Given the description of an element on the screen output the (x, y) to click on. 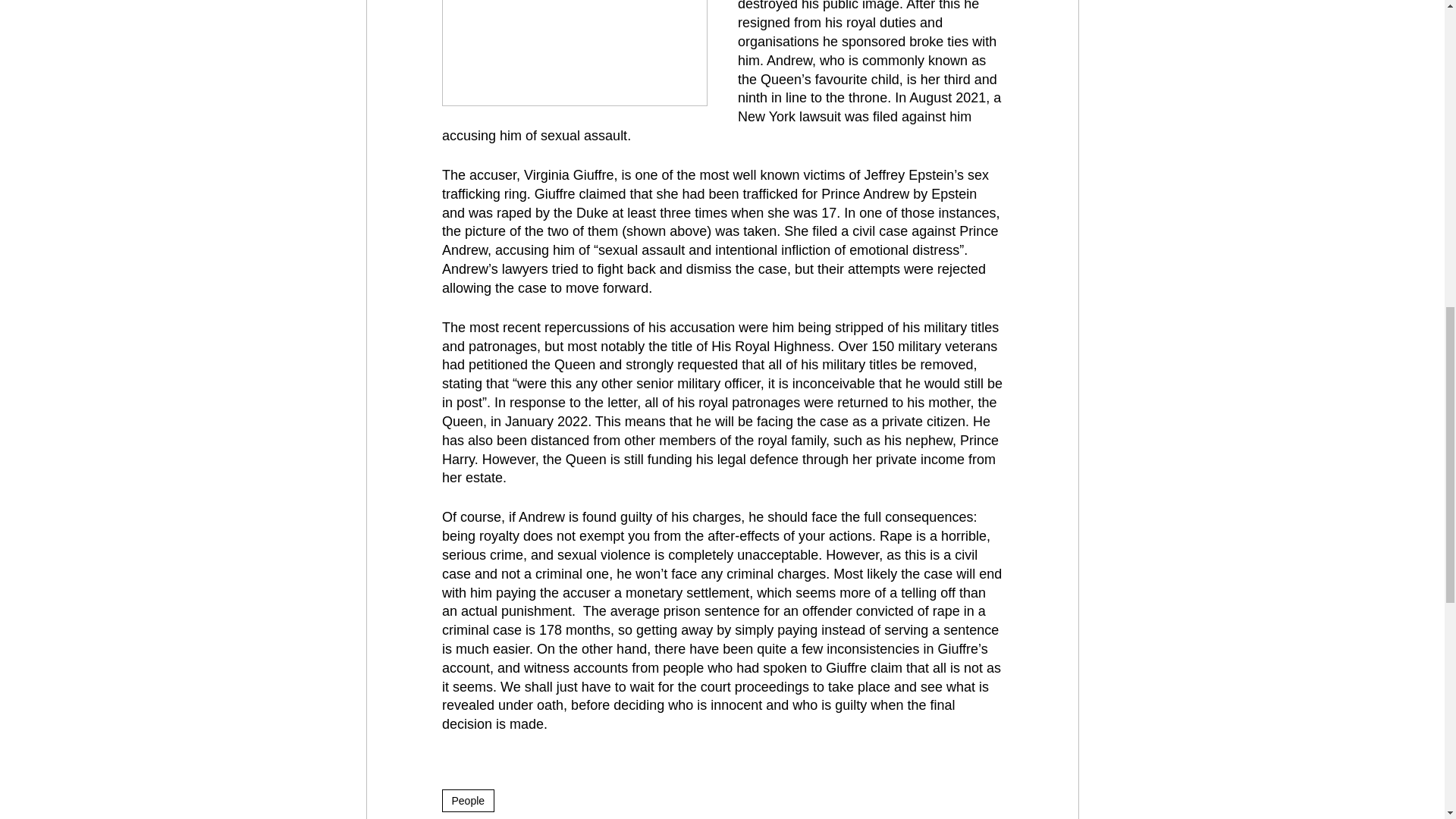
People (468, 800)
